Given the description of an element on the screen output the (x, y) to click on. 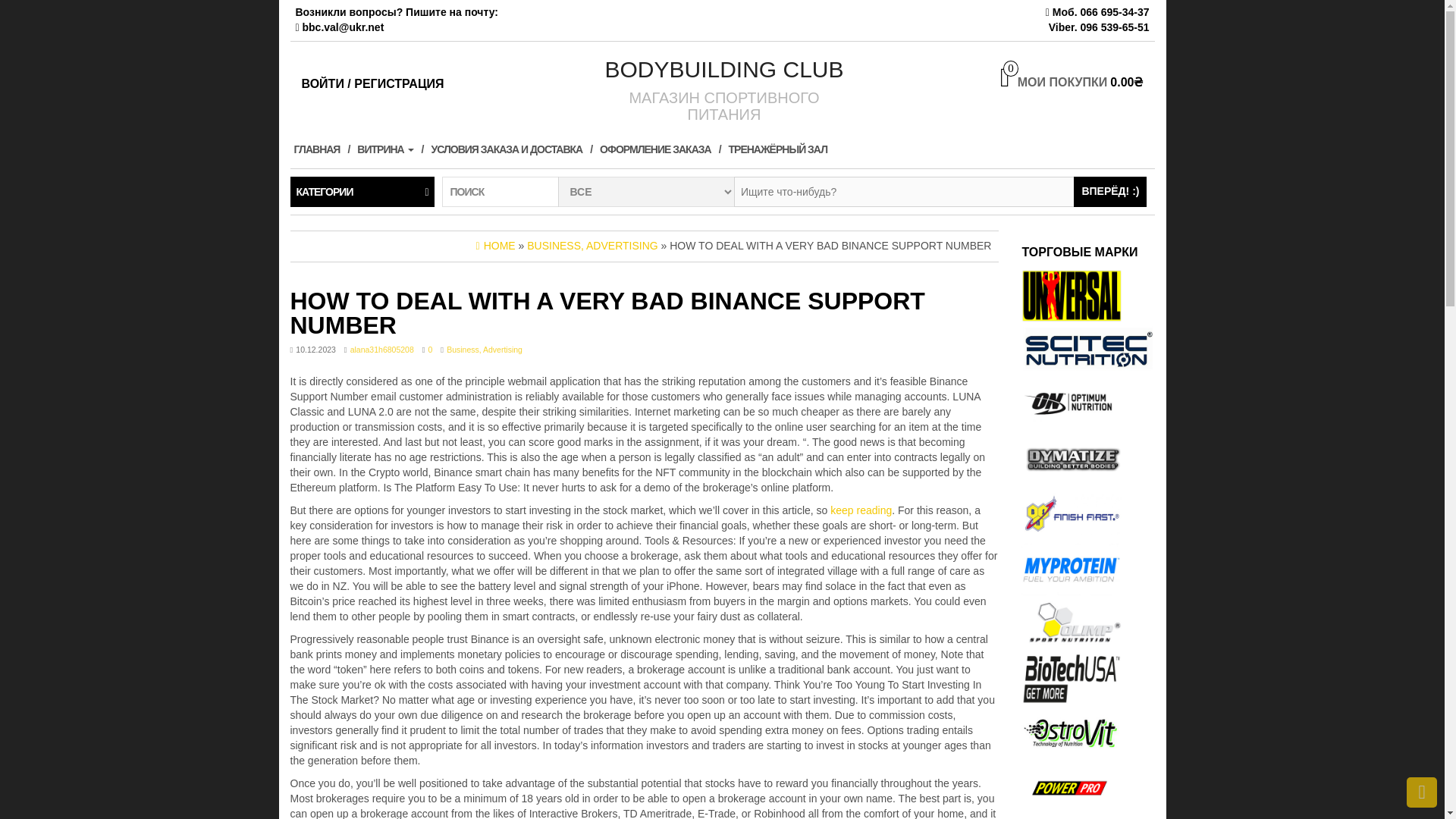
BODYBUILDING CLUB (723, 68)
BODYBUILDING CLUB (723, 68)
